Given the description of an element on the screen output the (x, y) to click on. 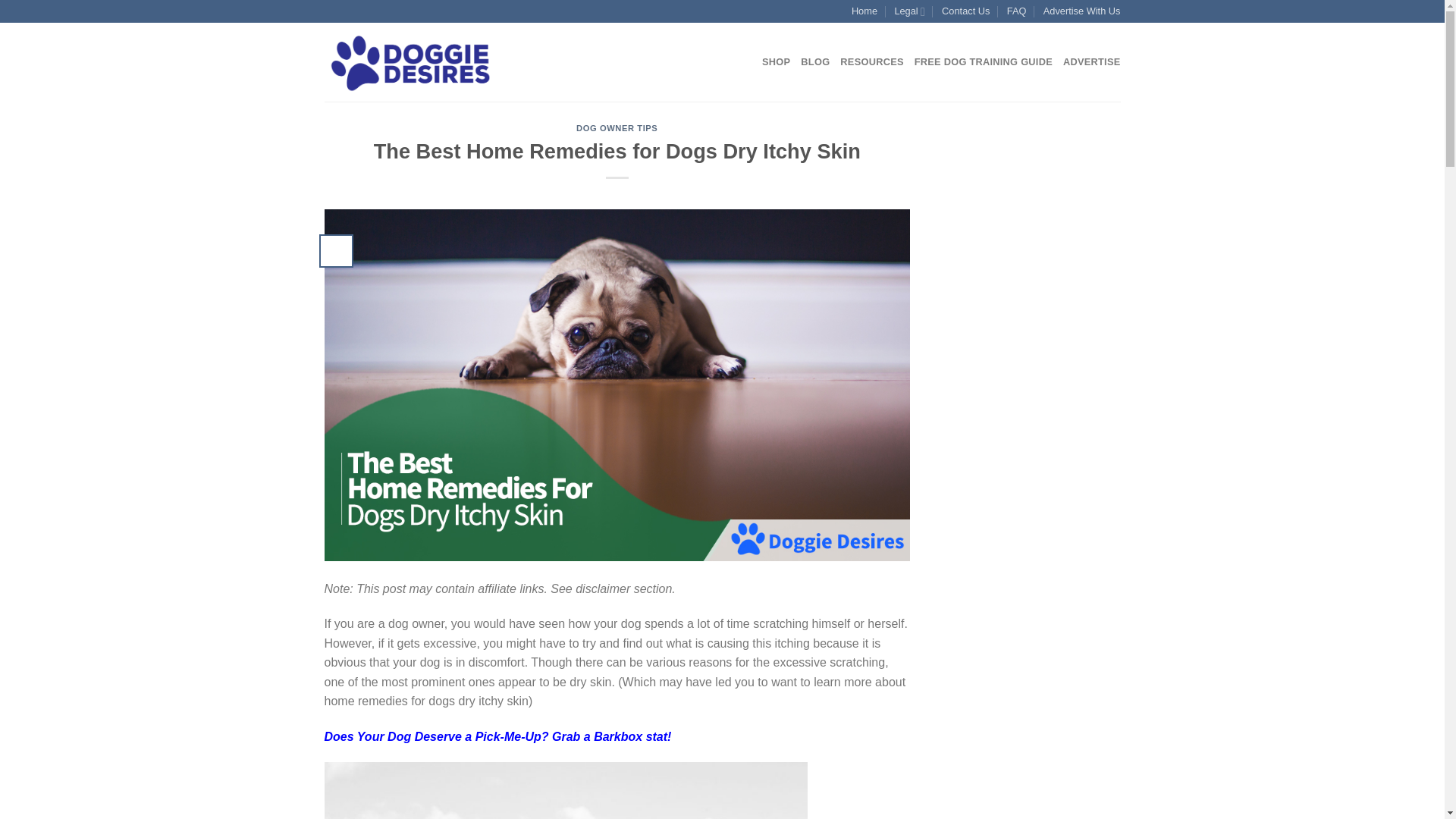
DOG OWNER TIPS (617, 127)
Contact Us (966, 11)
Home (864, 11)
SHOP (775, 61)
BLOG (814, 61)
ADVERTISE (1091, 61)
RESOURCES (871, 61)
Advertise With Us (1082, 11)
Legal (908, 11)
Does Your Dog Deserve a Pick-Me-Up? Grab a Barkbox stat! (497, 736)
